Given the description of an element on the screen output the (x, y) to click on. 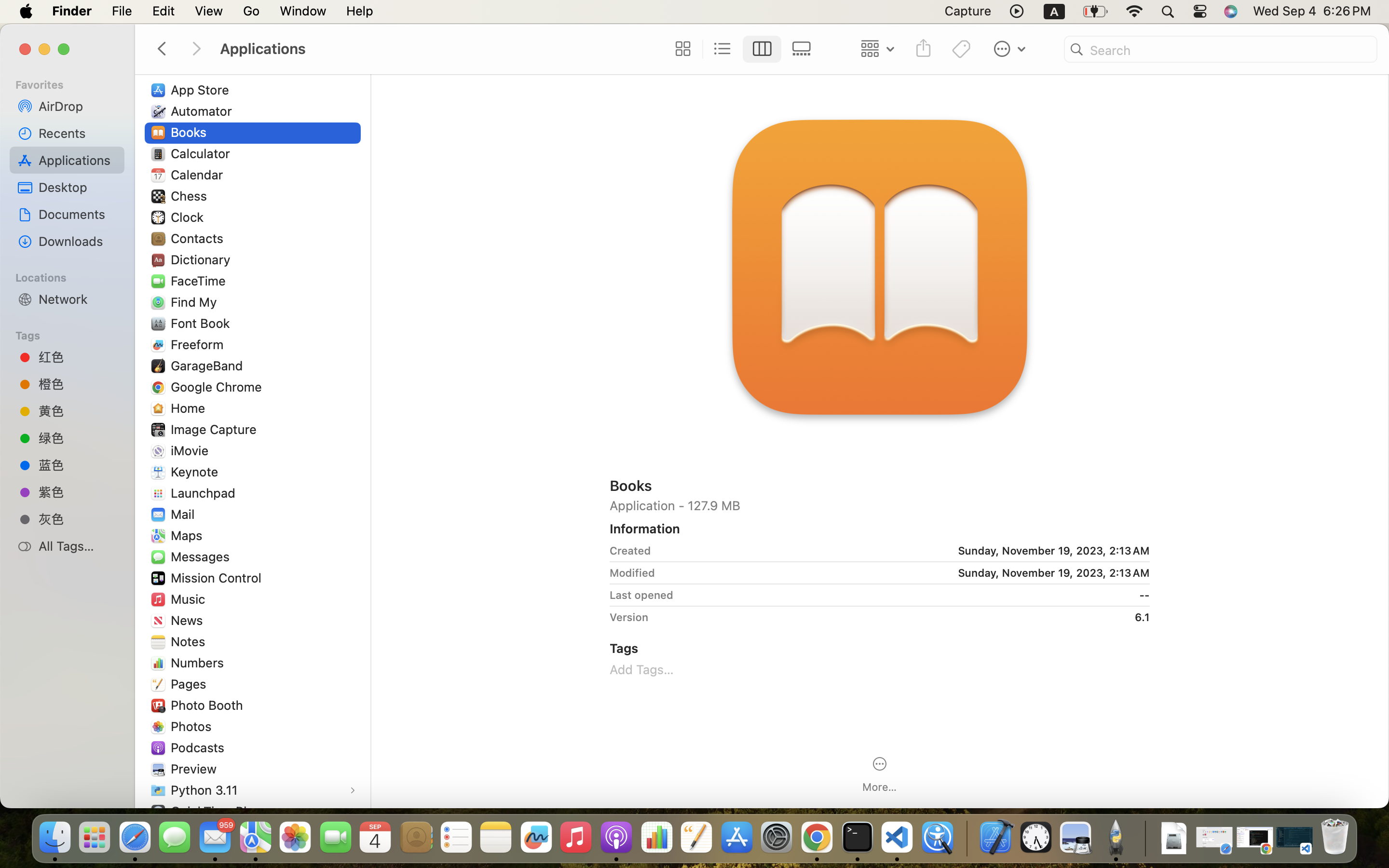
Chess Element type: AXTextField (190, 195)
Notes Element type: AXTextField (189, 641)
Messages Element type: AXTextField (201, 556)
News Element type: AXTextField (188, 619)
Launchpad Element type: AXTextField (205, 492)
